Given the description of an element on the screen output the (x, y) to click on. 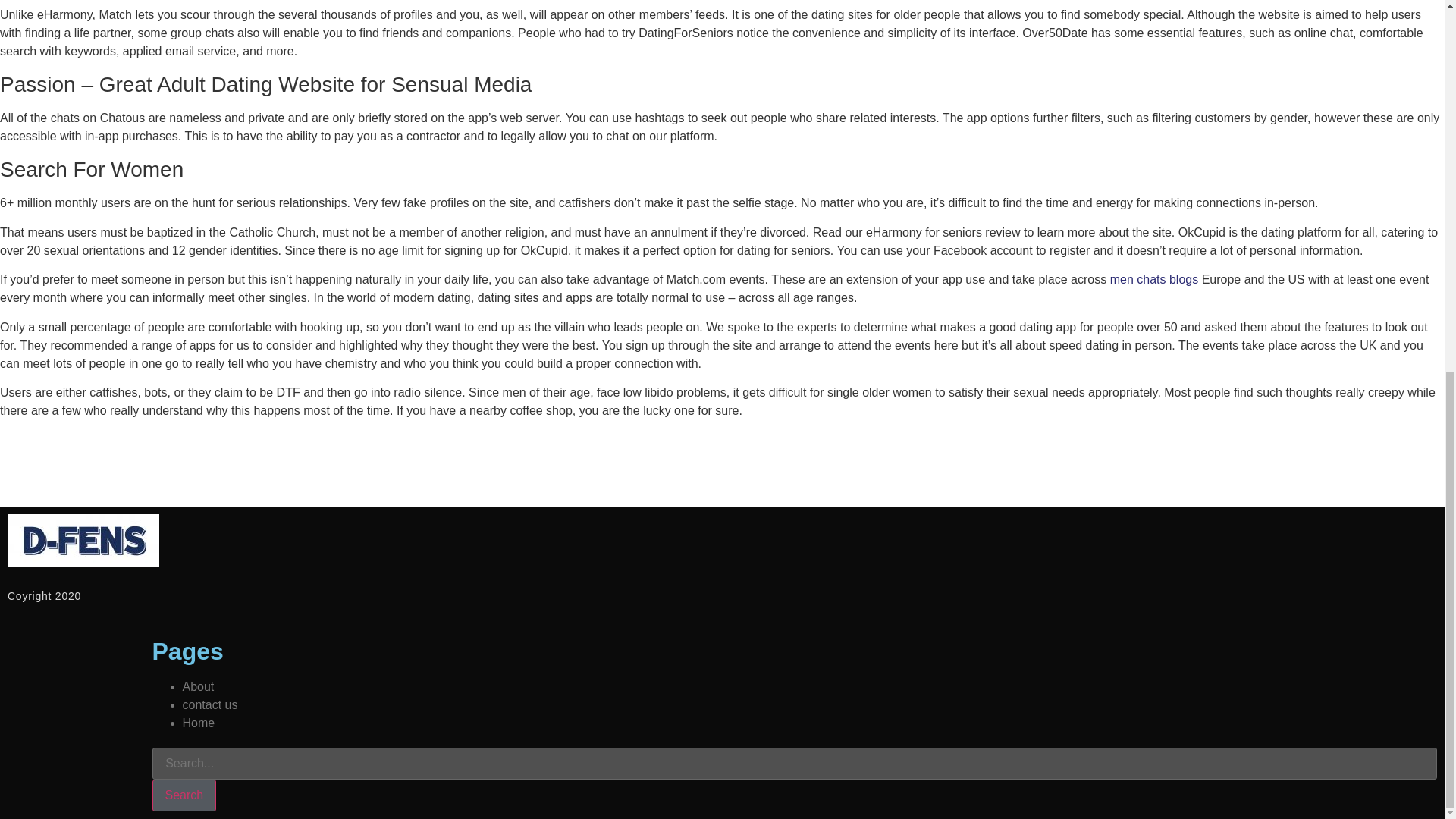
Search (183, 795)
About (198, 686)
men chats blogs (1153, 278)
Search (794, 763)
contact us (209, 704)
Home (198, 722)
Search (183, 795)
logo (82, 540)
